Given the description of an element on the screen output the (x, y) to click on. 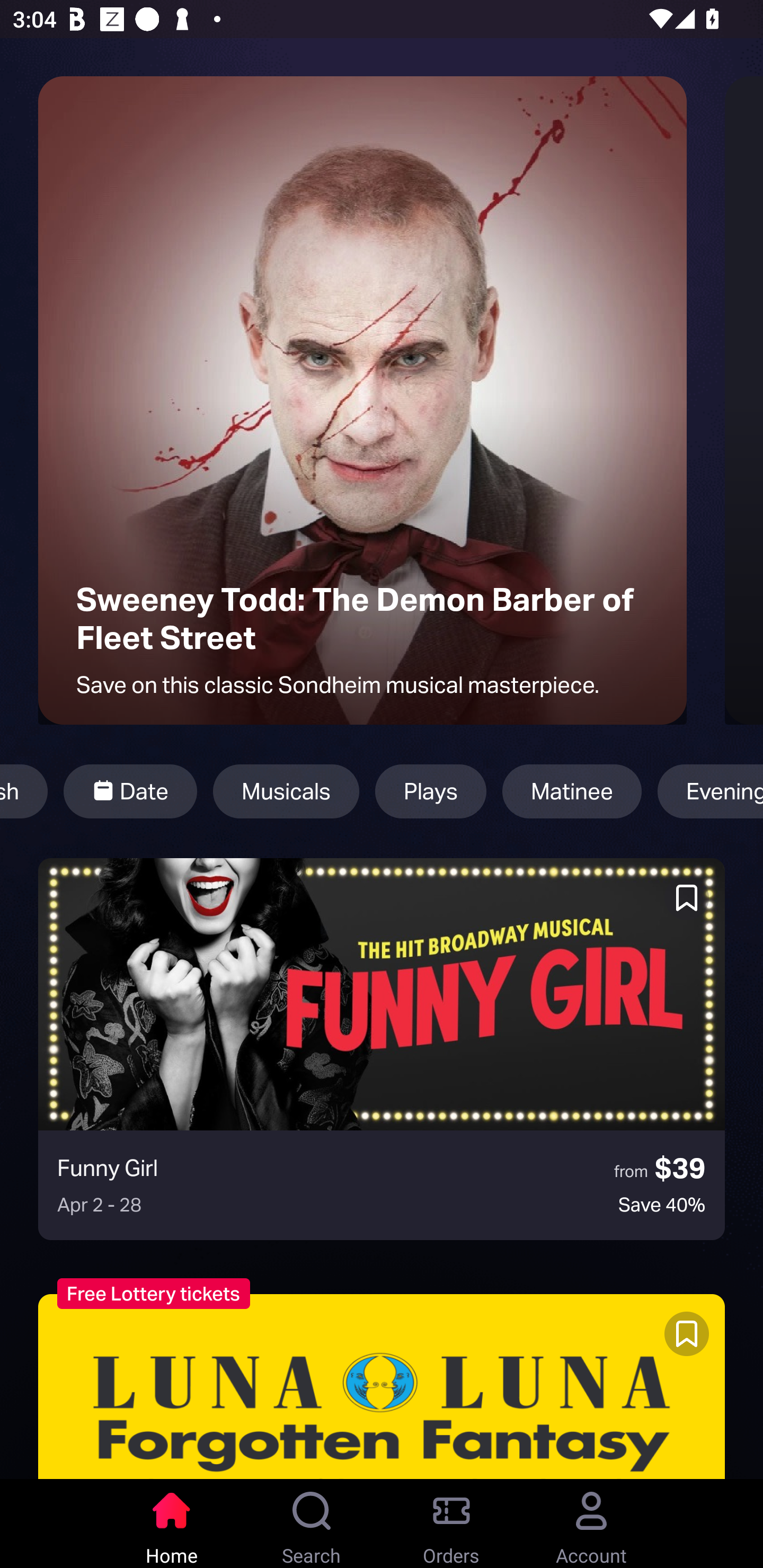
Date (129, 791)
Musicals (285, 791)
Plays (430, 791)
Matinee (571, 791)
Funny Girl from $39 Apr 2 - 28 Save 40% (381, 1048)
Search (311, 1523)
Orders (451, 1523)
Account (591, 1523)
